Given the description of an element on the screen output the (x, y) to click on. 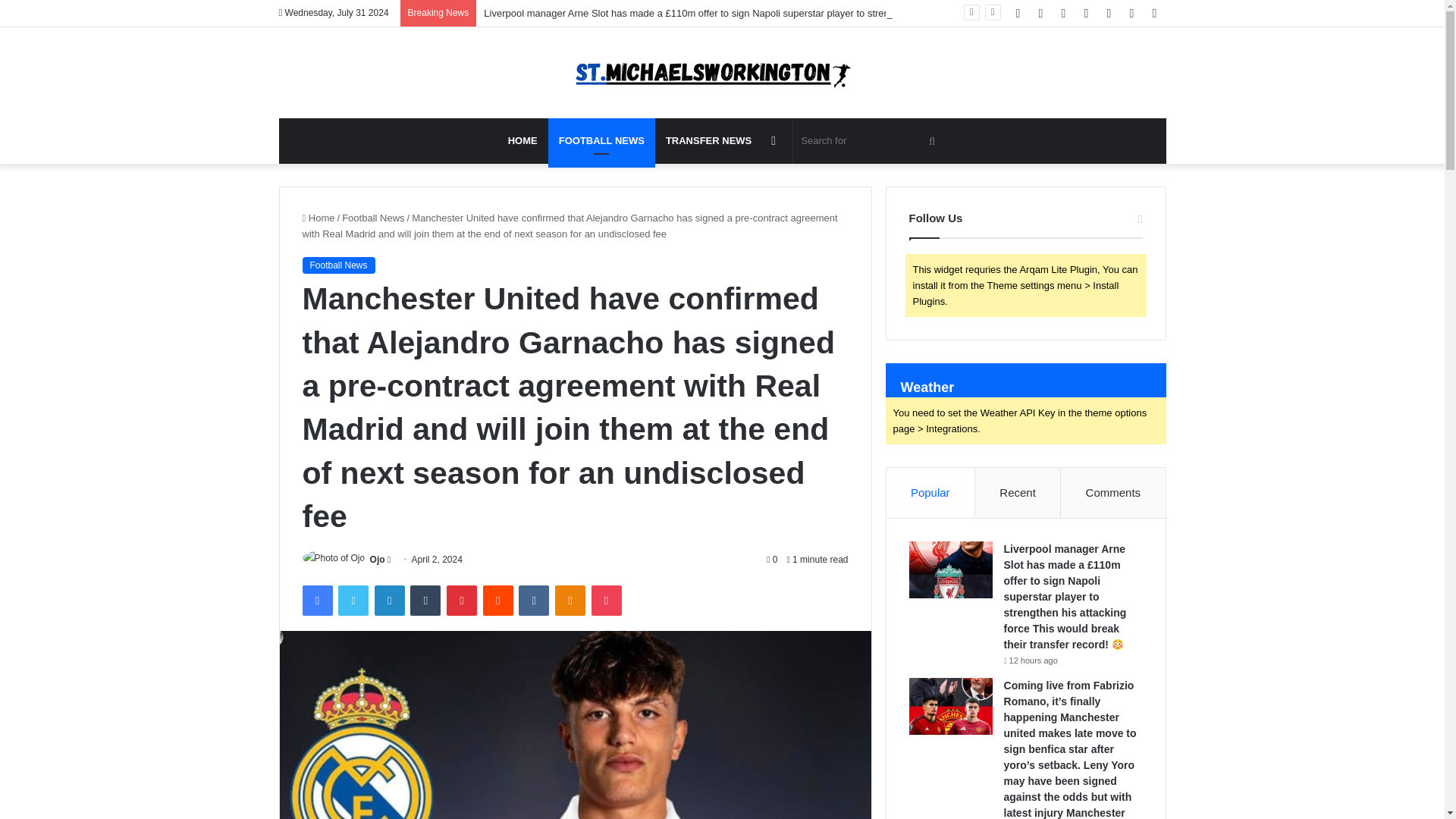
Twitter (352, 600)
Tumblr (425, 600)
Pocket (606, 600)
HOME (522, 140)
Search for (870, 140)
Facebook (316, 600)
TRANSFER NEWS (708, 140)
Twitter (352, 600)
VKontakte (533, 600)
Pinterest (461, 600)
Home (317, 217)
Football News (373, 217)
FOOTBALL NEWS (601, 140)
Reddit (498, 600)
Reddit (498, 600)
